Given the description of an element on the screen output the (x, y) to click on. 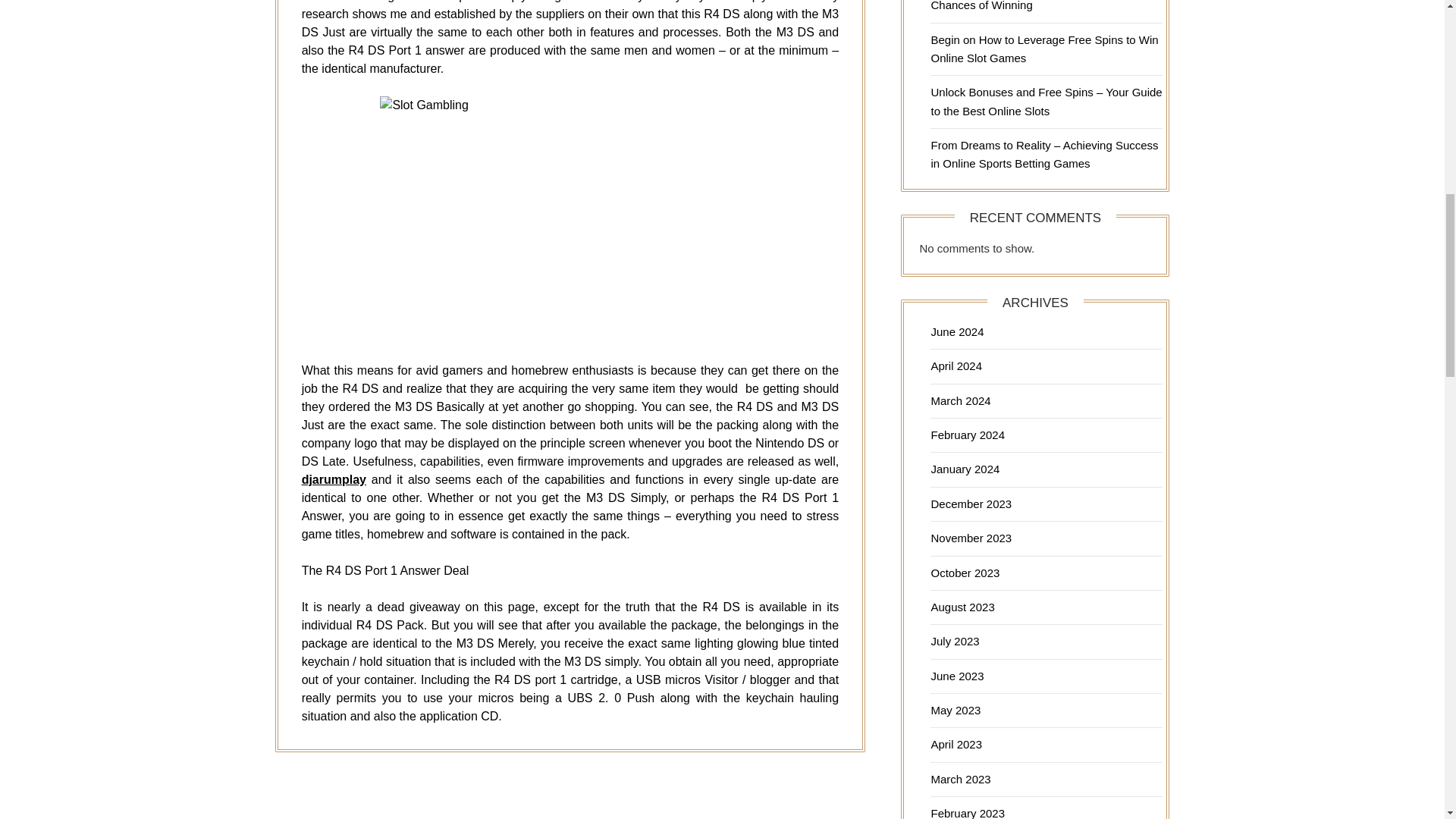
June 2024 (957, 331)
November 2023 (970, 537)
June 2023 (957, 675)
February 2023 (967, 812)
August 2023 (962, 606)
March 2024 (960, 400)
December 2023 (970, 503)
May 2023 (954, 709)
April 2023 (955, 744)
Begin on How to Leverage Free Spins to Win Online Slot Games (1043, 48)
